Given the description of an element on the screen output the (x, y) to click on. 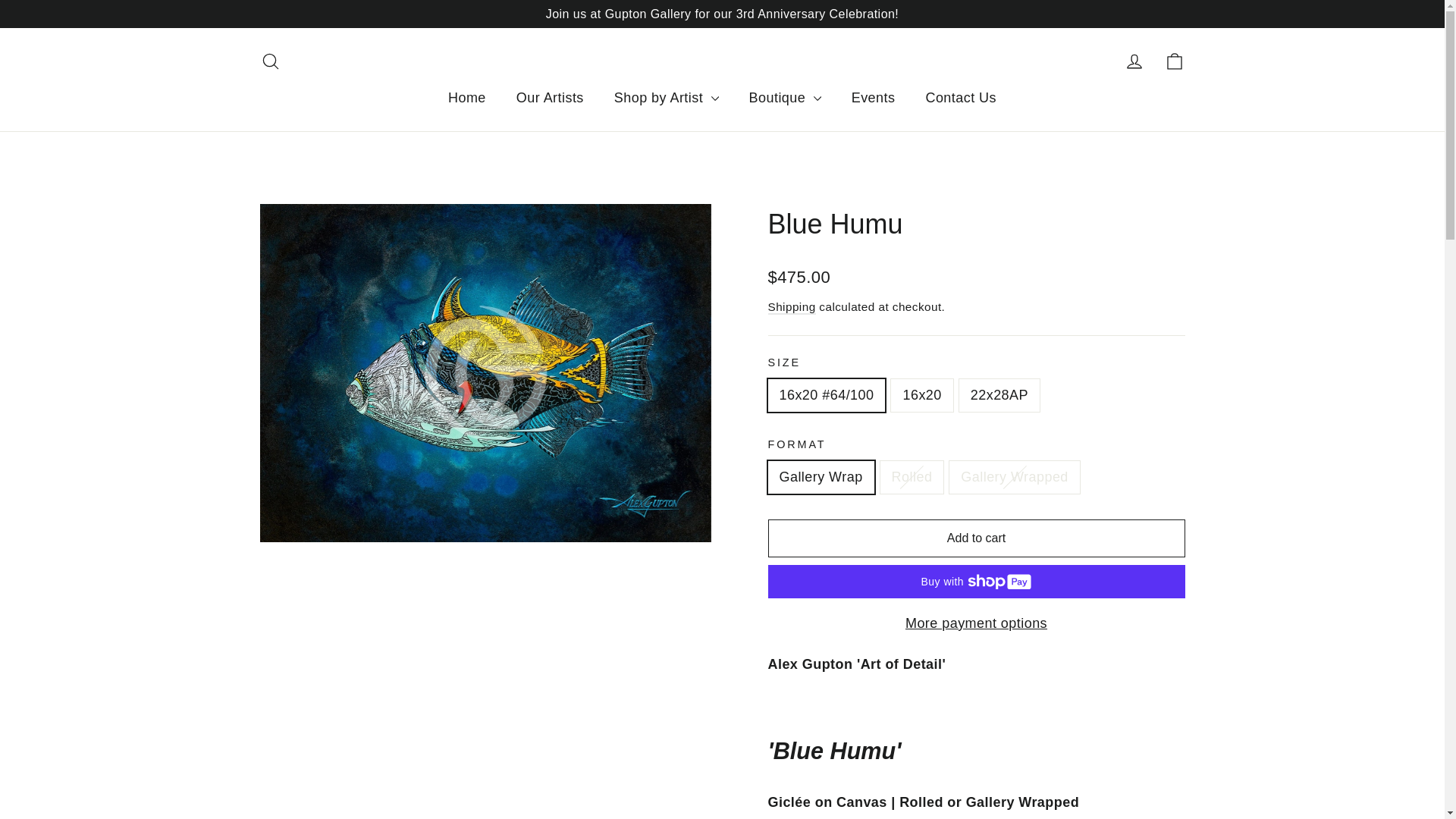
icon-search (270, 61)
account (1134, 61)
icon-bag-minimal (1174, 61)
